Given the description of an element on the screen output the (x, y) to click on. 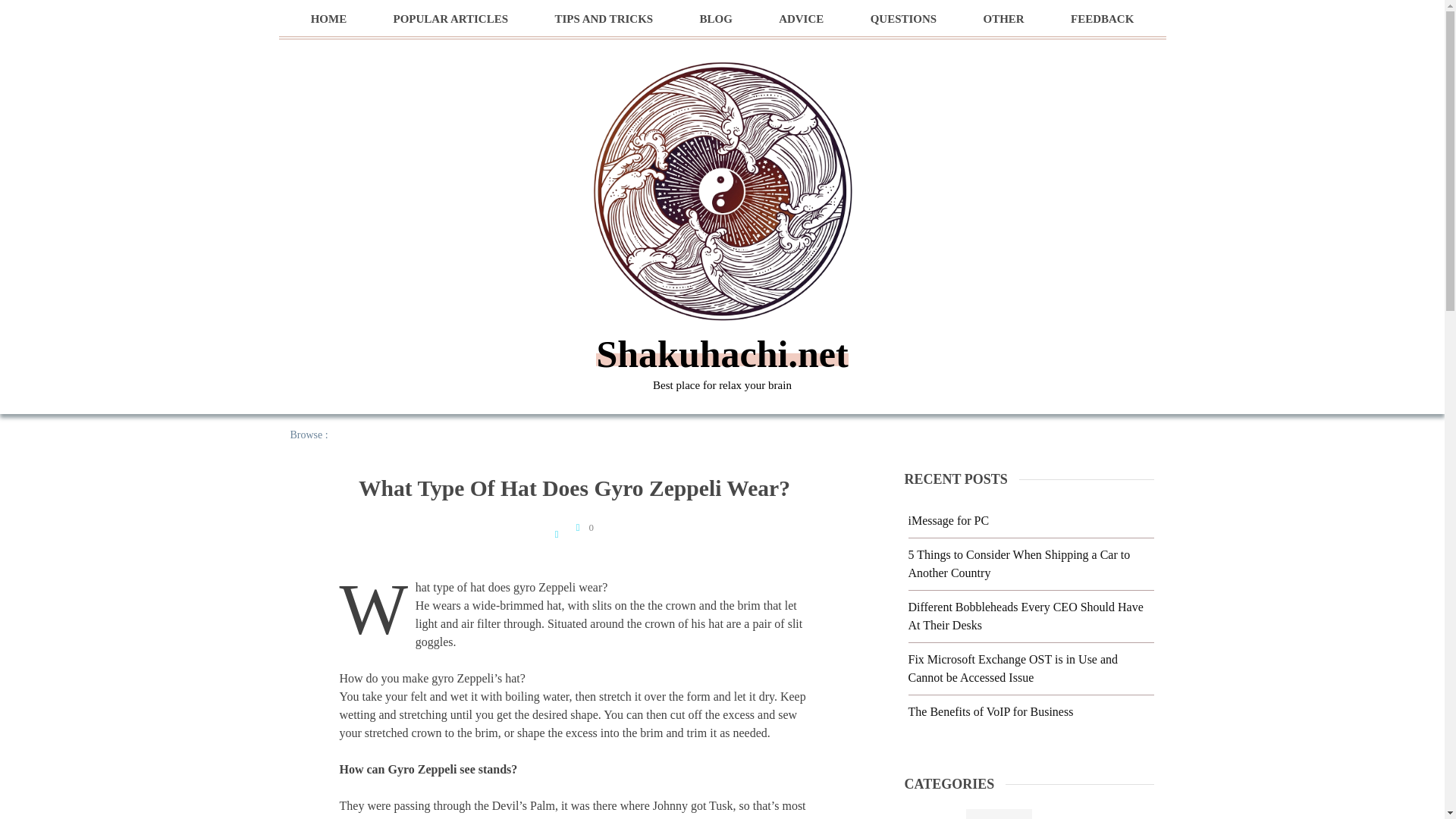
FEEDBACK (1101, 19)
TIPS AND TRICKS (603, 19)
The Benefits of VoIP for Business (991, 711)
POPULAR ARTICLES (450, 19)
Shakuhachi.net (721, 353)
Different Bobbleheads Every CEO Should Have At Their Desks (1025, 615)
iMessage for PC (949, 520)
HOME (328, 19)
QUESTIONS (904, 19)
ADVICE (801, 19)
Home (348, 434)
BLOG (715, 19)
OTHER (1003, 19)
Blog (999, 814)
